Given the description of an element on the screen output the (x, y) to click on. 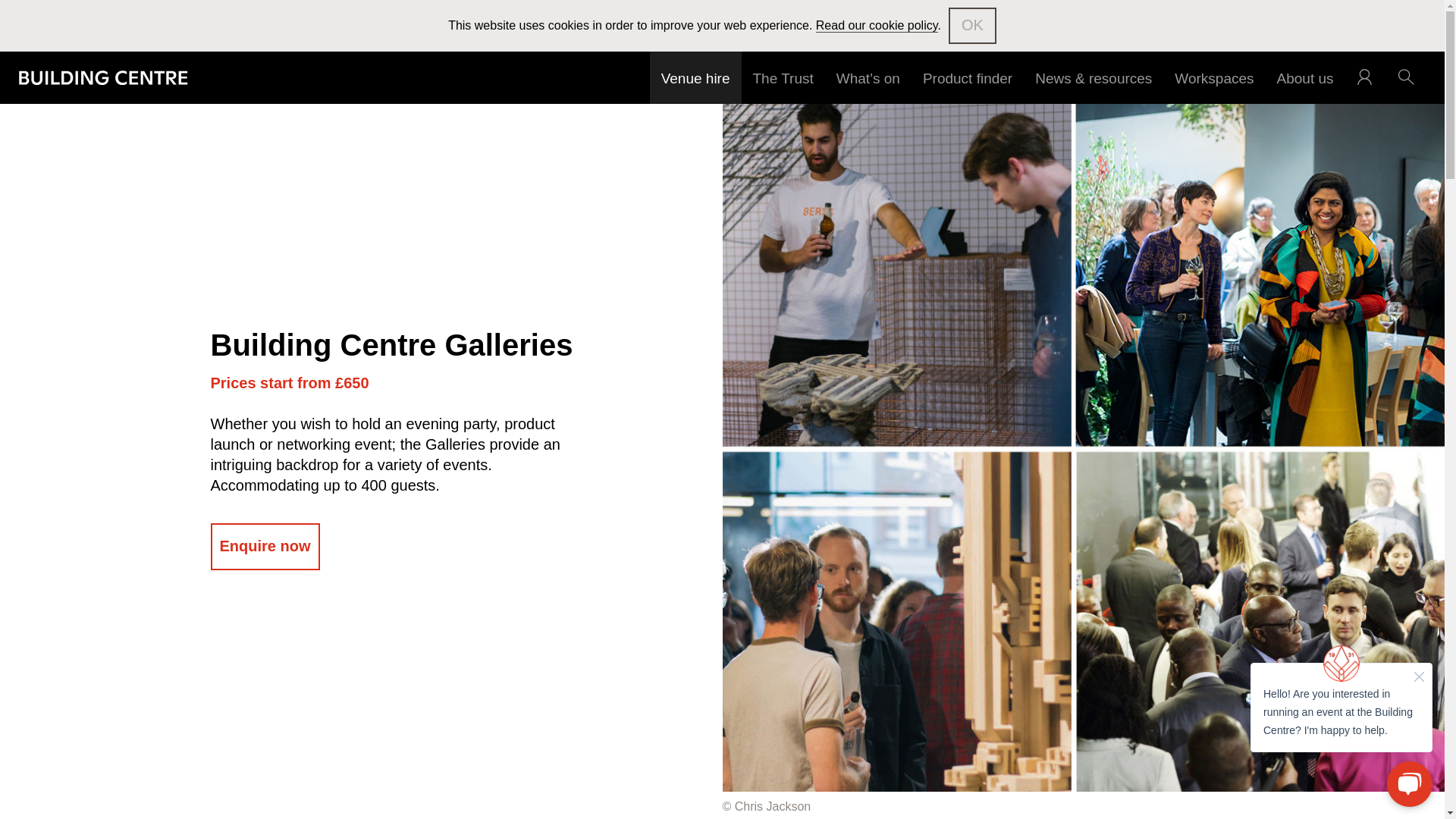
Read our cookie policy (876, 25)
OK (972, 25)
